Given the description of an element on the screen output the (x, y) to click on. 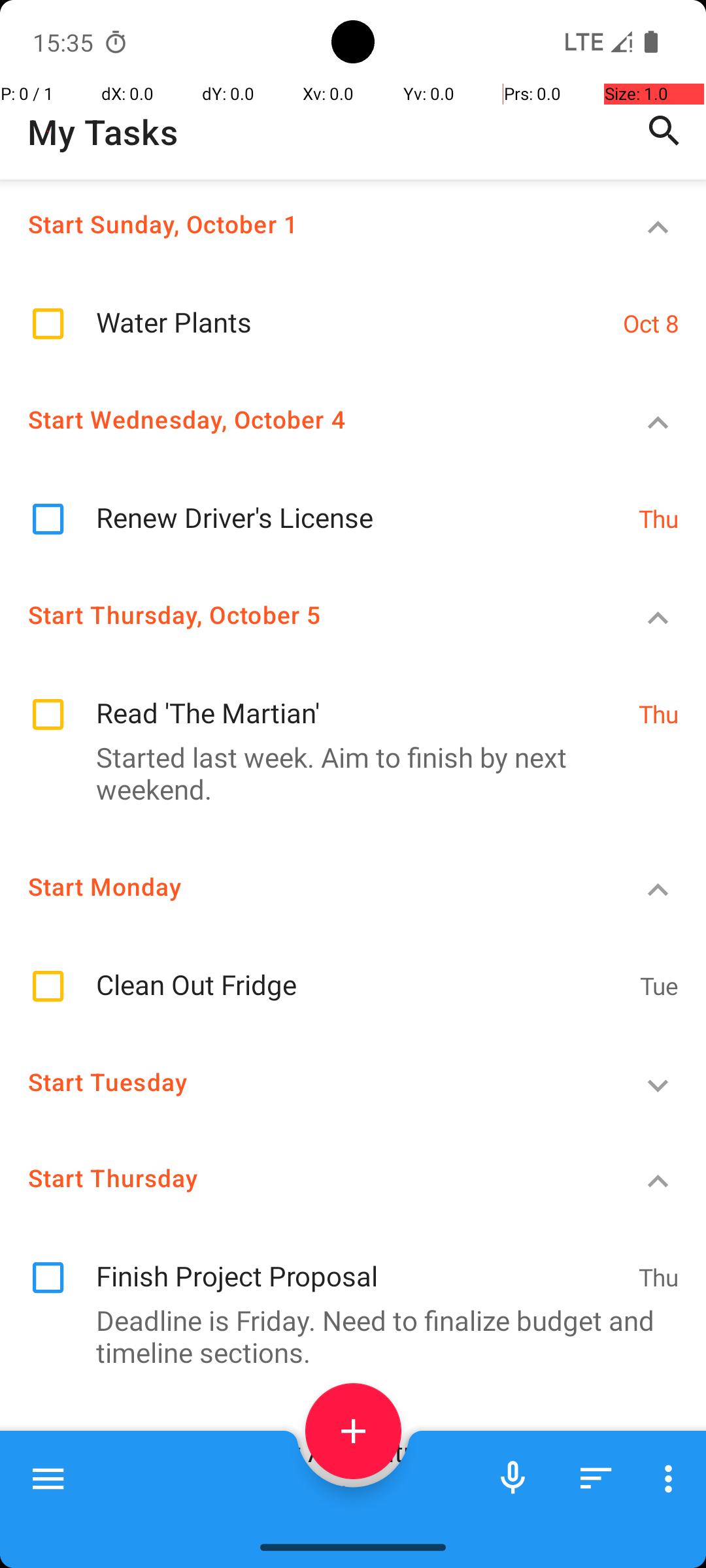
Start Sunday, October 1 Element type: android.widget.TextView (304, 223)
Start Wednesday, October 4 Element type: android.widget.TextView (304, 419)
Start Thursday, October 5 Element type: android.widget.TextView (304, 614)
Start Monday Element type: android.widget.TextView (304, 886)
Start Tuesday Element type: android.widget.TextView (304, 1081)
Start Thursday Element type: android.widget.TextView (304, 1177)
